Given the description of an element on the screen output the (x, y) to click on. 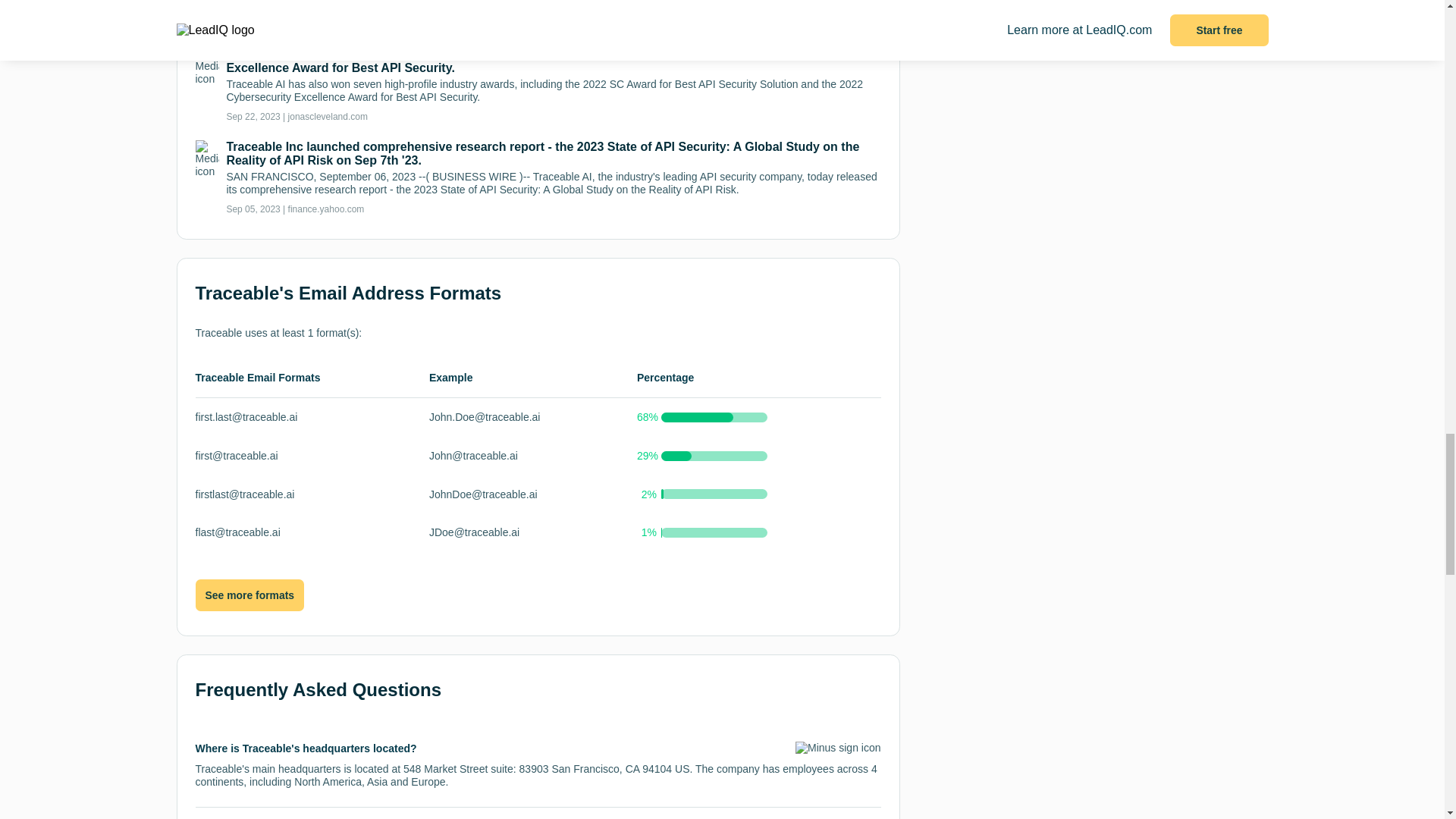
See more formats (249, 594)
See more formats (249, 595)
